Given the description of an element on the screen output the (x, y) to click on. 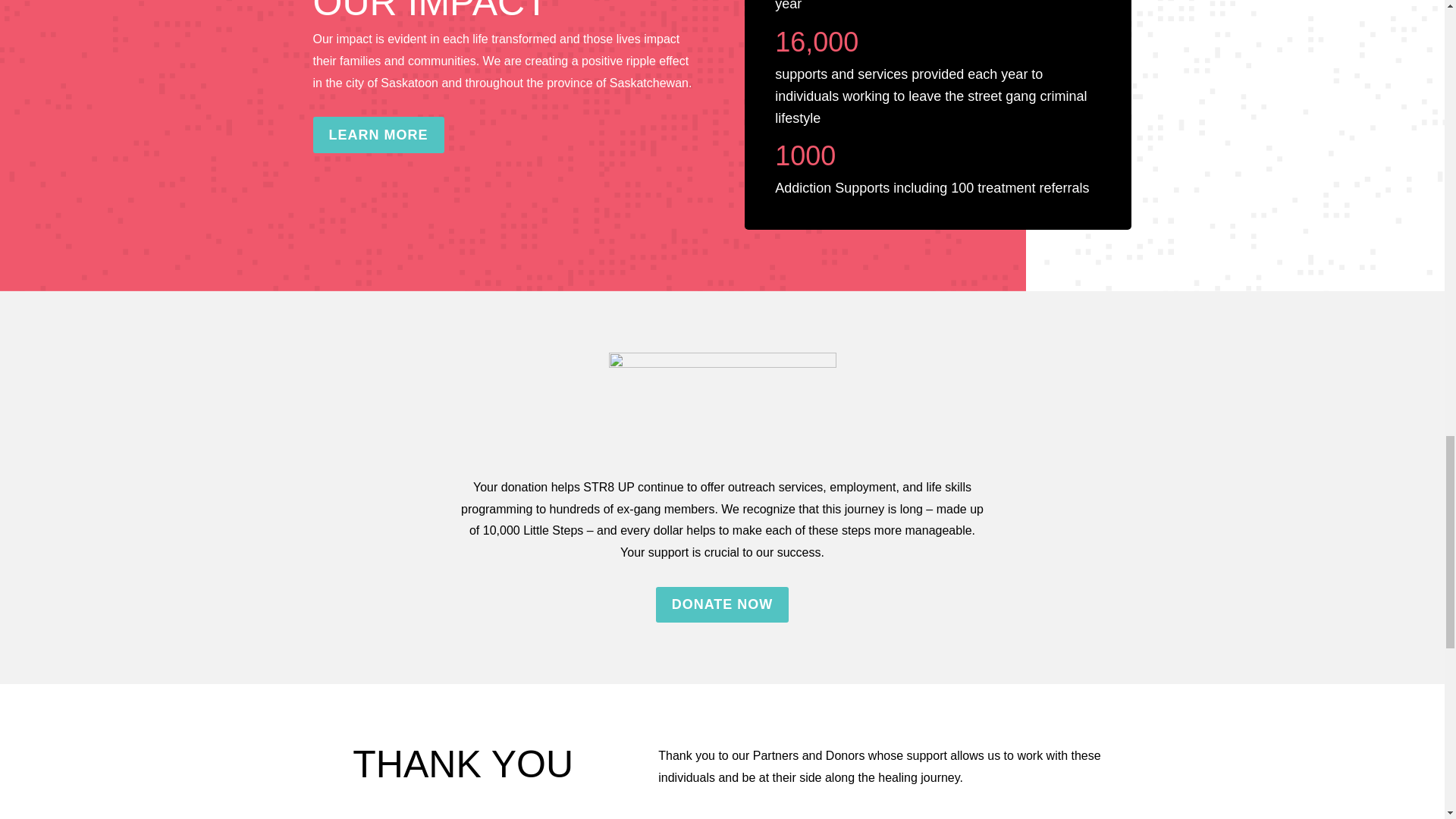
LEARN MORE (378, 134)
Donate (721, 403)
DONATE NOW (722, 604)
